Given the description of an element on the screen output the (x, y) to click on. 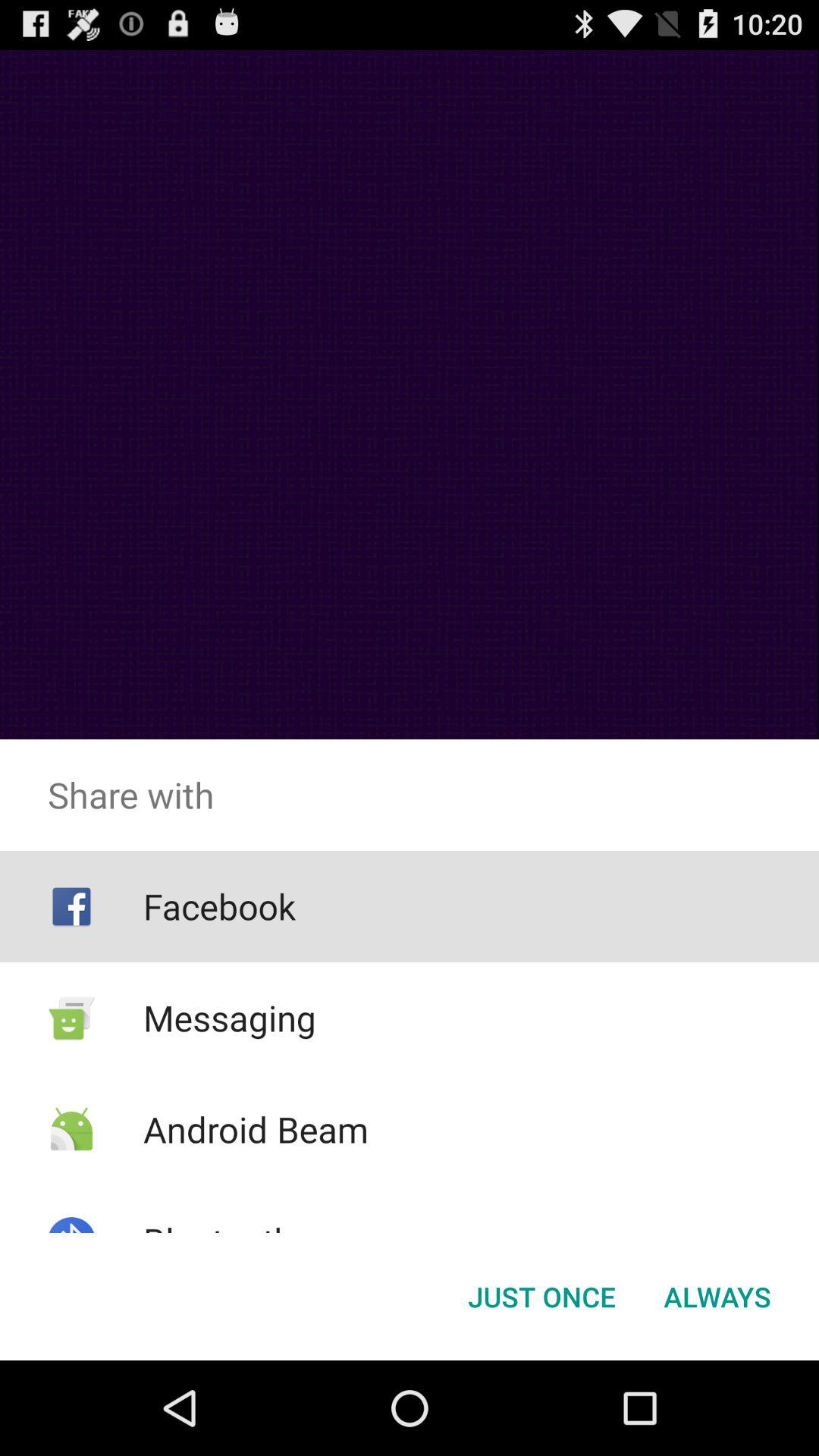
swipe until the always button (717, 1296)
